Given the description of an element on the screen output the (x, y) to click on. 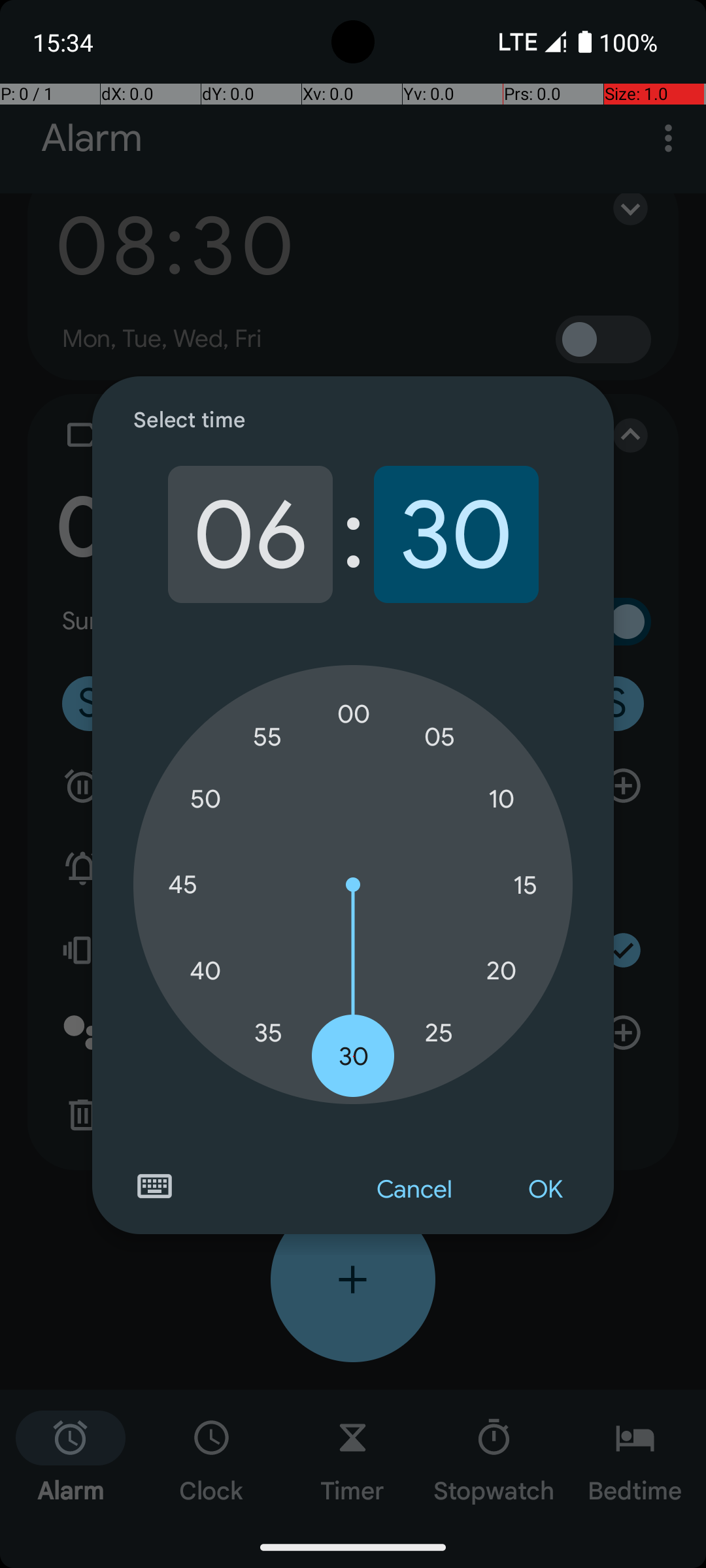
06 Element type: android.view.View (250, 534)
